Given the description of an element on the screen output the (x, y) to click on. 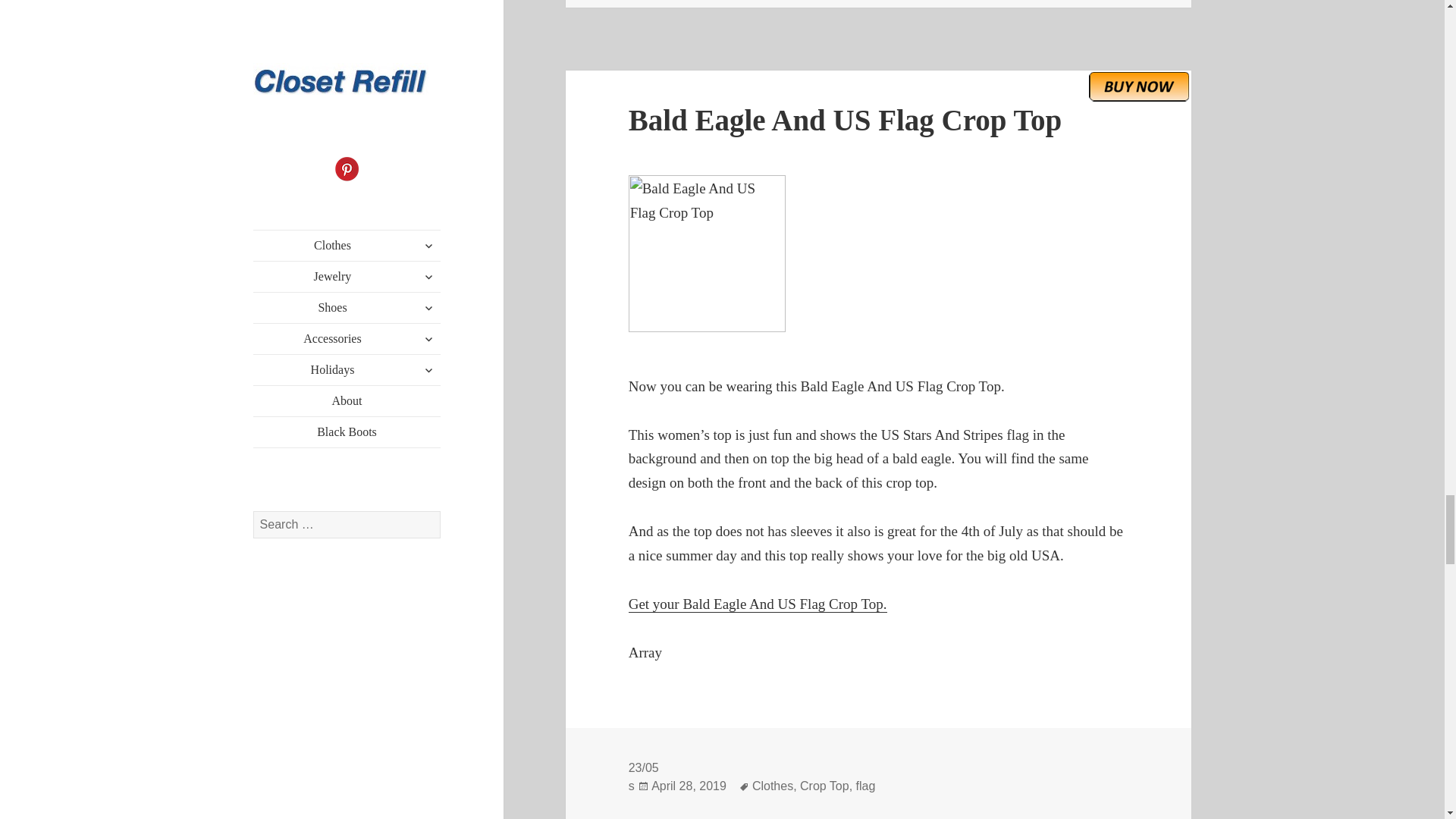
buy Bald Eagle And US Flag Crop Top (1139, 86)
